Given the description of an element on the screen output the (x, y) to click on. 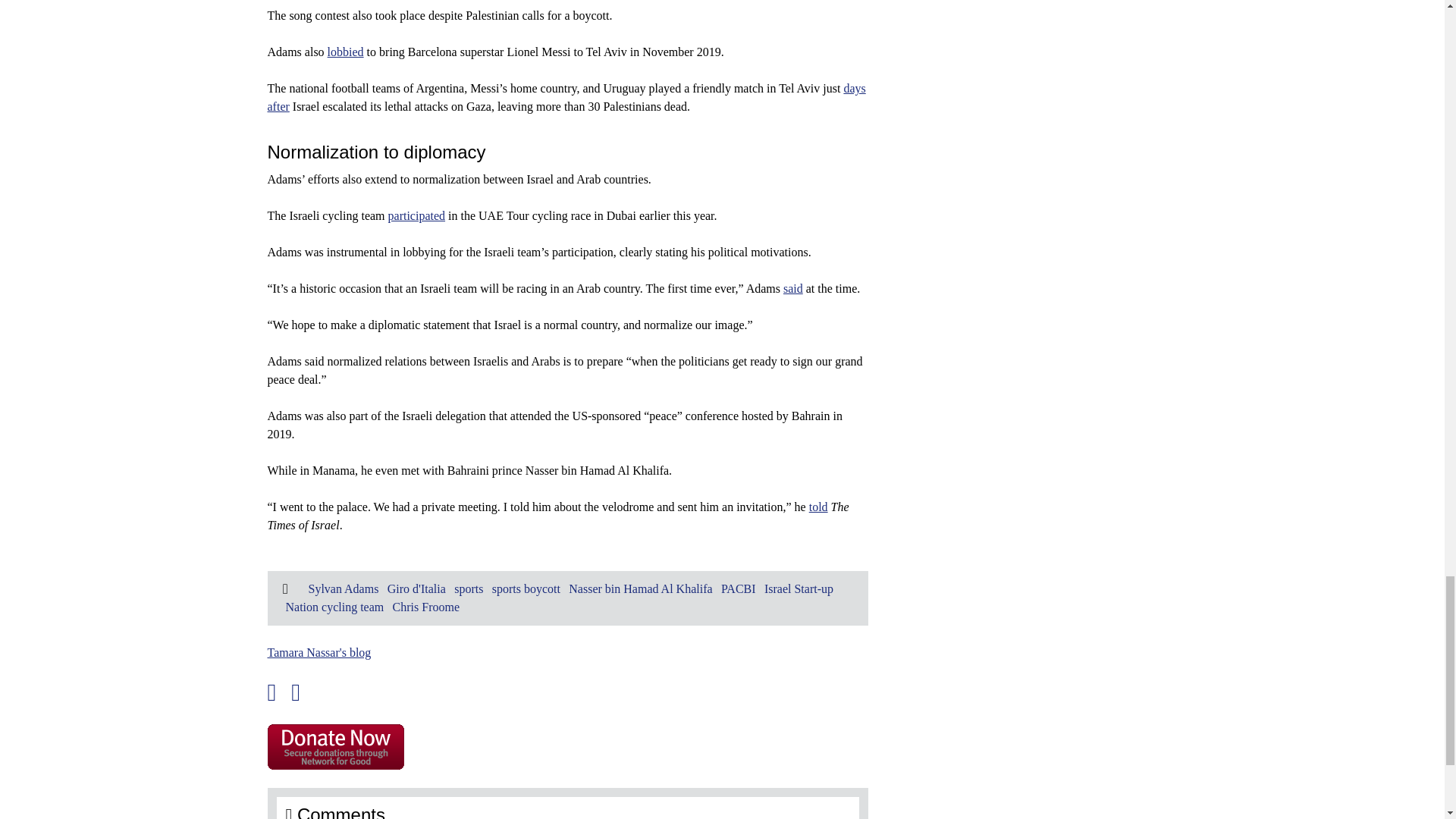
Giro d'Italia (416, 588)
sports boycott (526, 588)
Sylvan Adams (342, 588)
Read Tamara Nassar's latest blog entries. (318, 652)
said (793, 287)
lobbied (345, 51)
told (818, 506)
sports (468, 588)
participated (416, 215)
days after (565, 97)
